Given the description of an element on the screen output the (x, y) to click on. 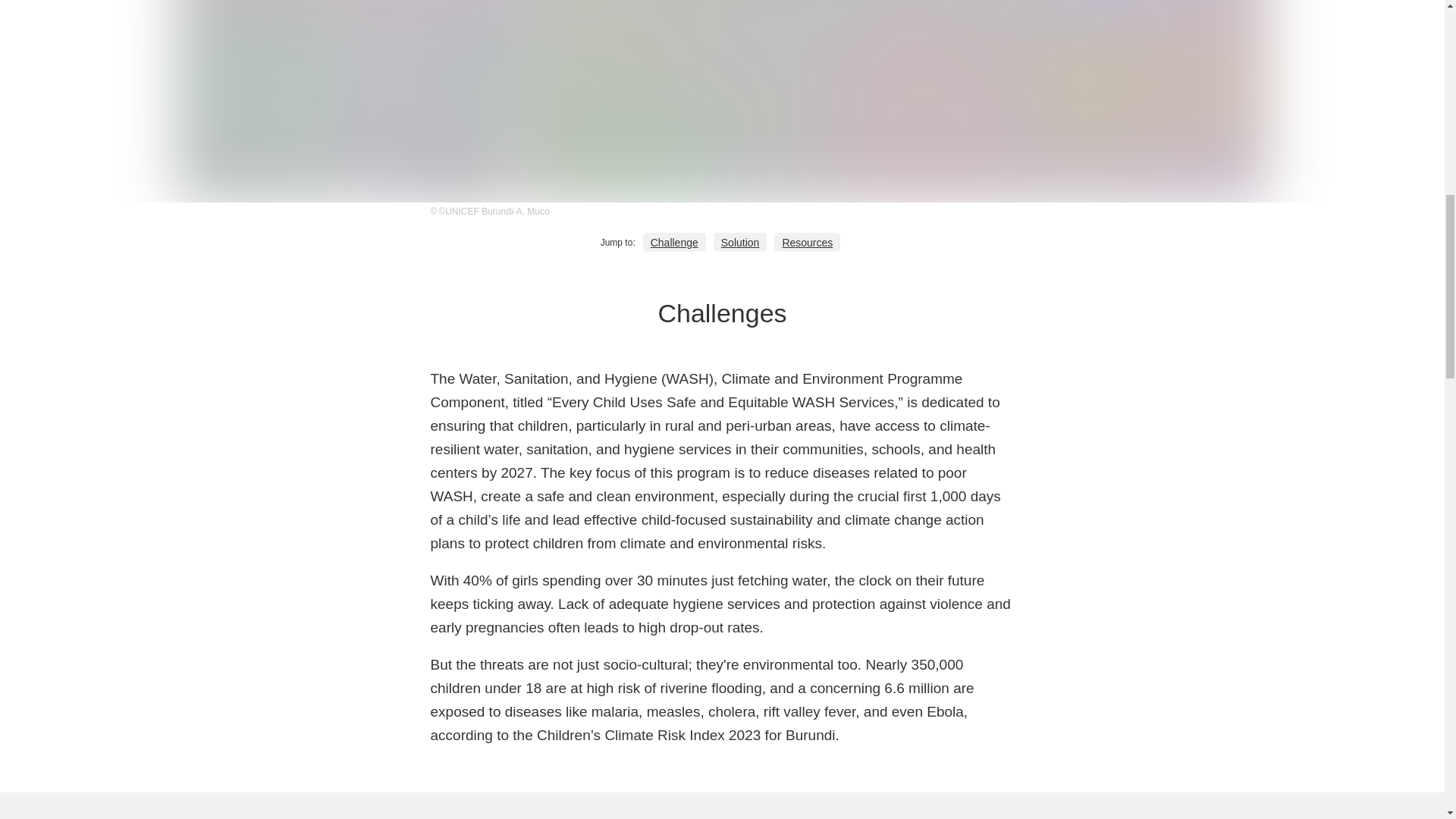
Resources (807, 241)
Solution (740, 241)
Challenge (674, 241)
